Given the description of an element on the screen output the (x, y) to click on. 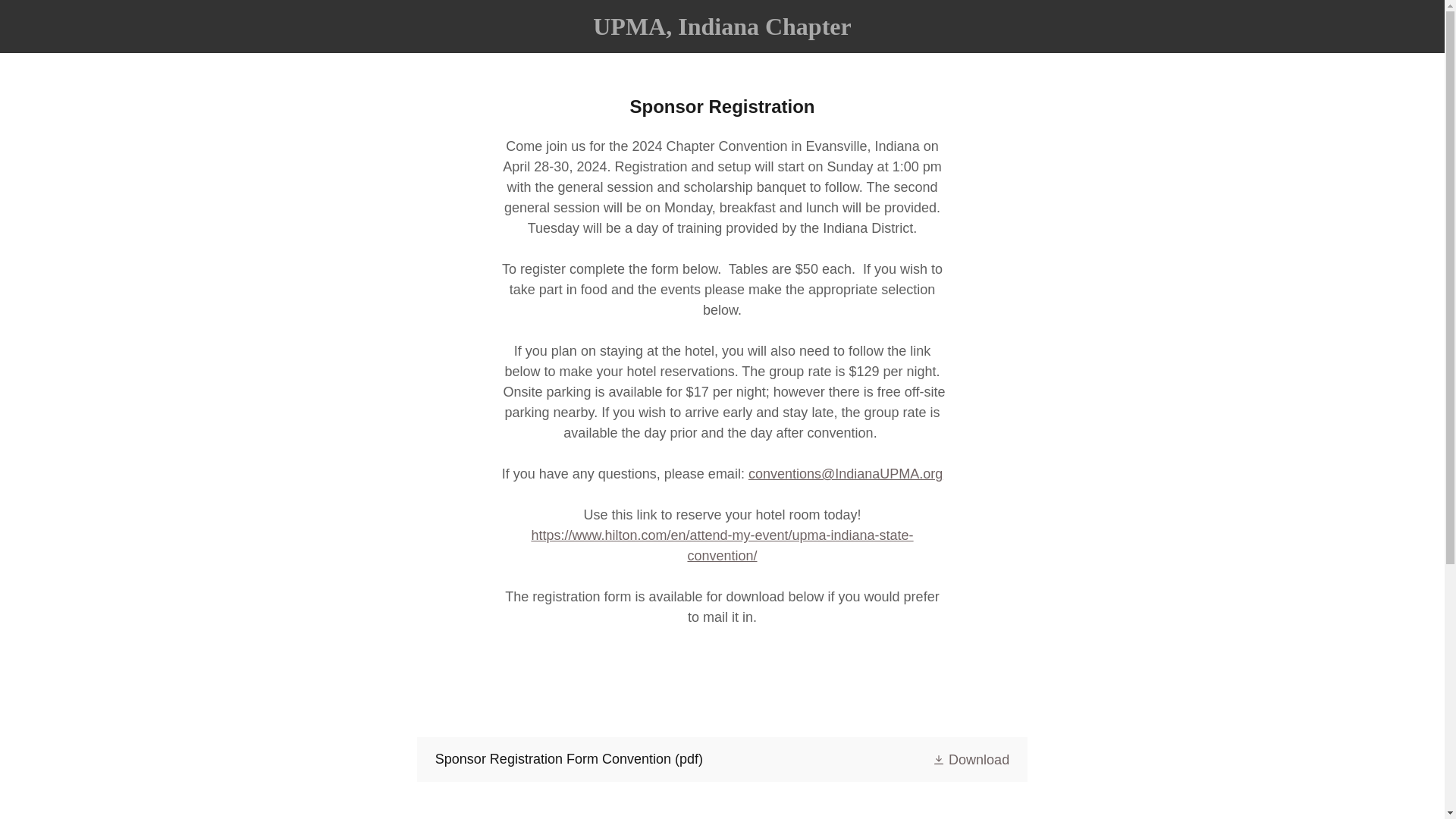
UPMA, Indiana Chapter (722, 29)
UPMA, Indiana Chapter (722, 29)
